Given the description of an element on the screen output the (x, y) to click on. 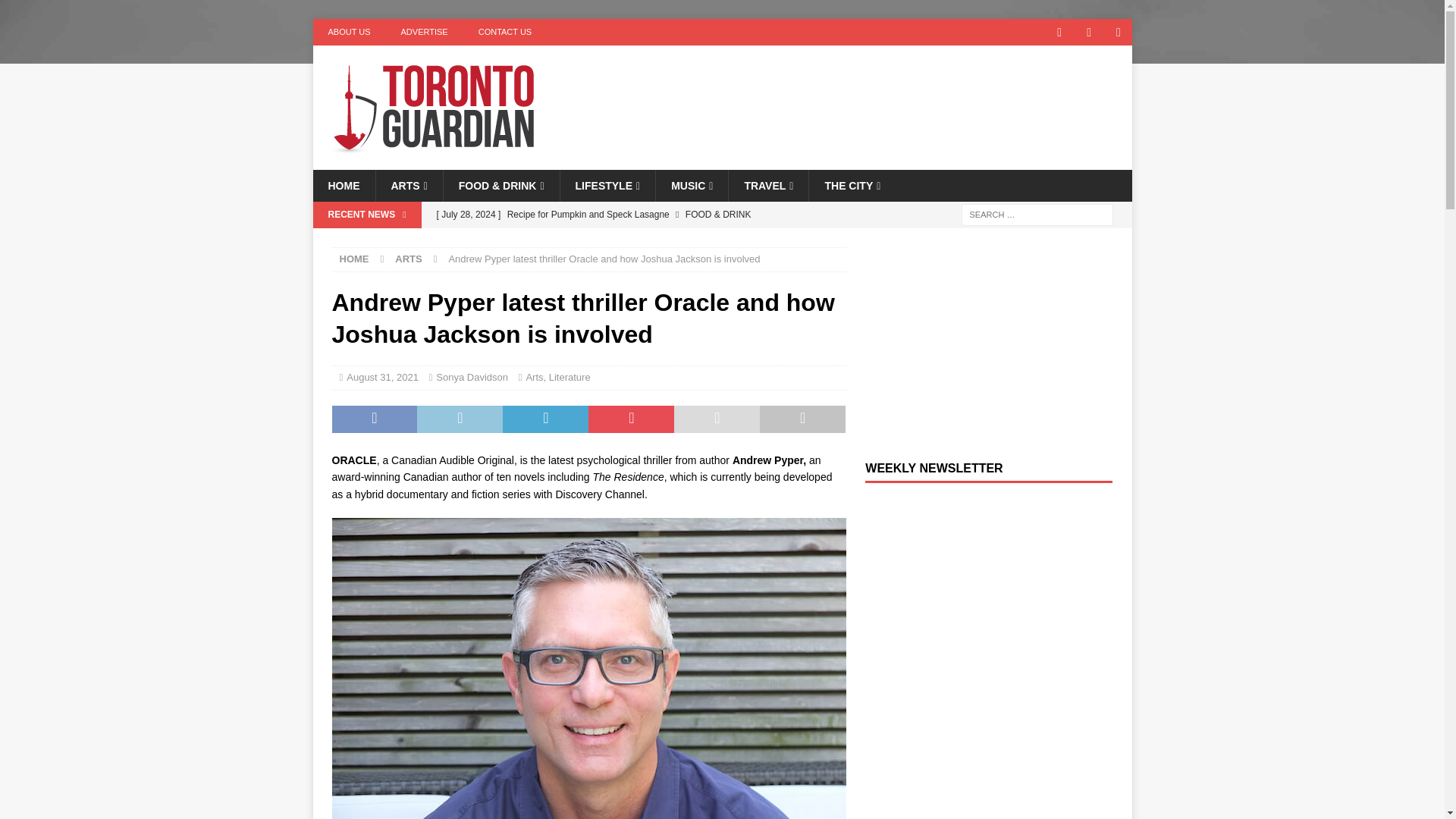
HOME (343, 185)
Okra the cat is looking for a new home in the Toronto area (636, 240)
TRAVEL (768, 185)
LIFESTYLE (607, 185)
ARTS (408, 185)
ADVERTISE (424, 31)
MUSIC (691, 185)
ABOUT US (349, 31)
Recipe for Pumpkin and Speck Lasagne (636, 214)
CONTACT US (505, 31)
